Given the description of an element on the screen output the (x, y) to click on. 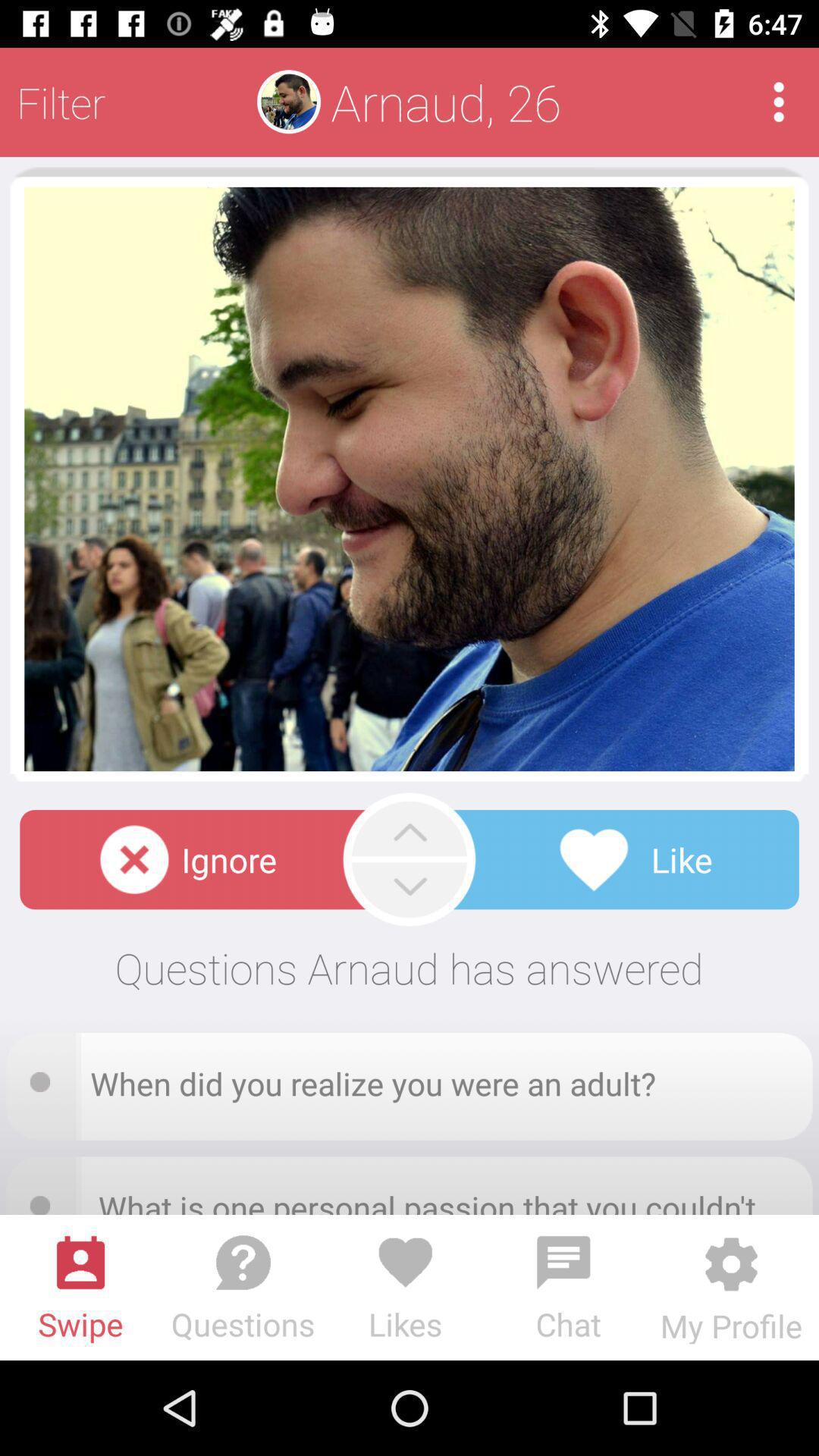
turn on the filter at the top left corner (61, 102)
